Given the description of an element on the screen output the (x, y) to click on. 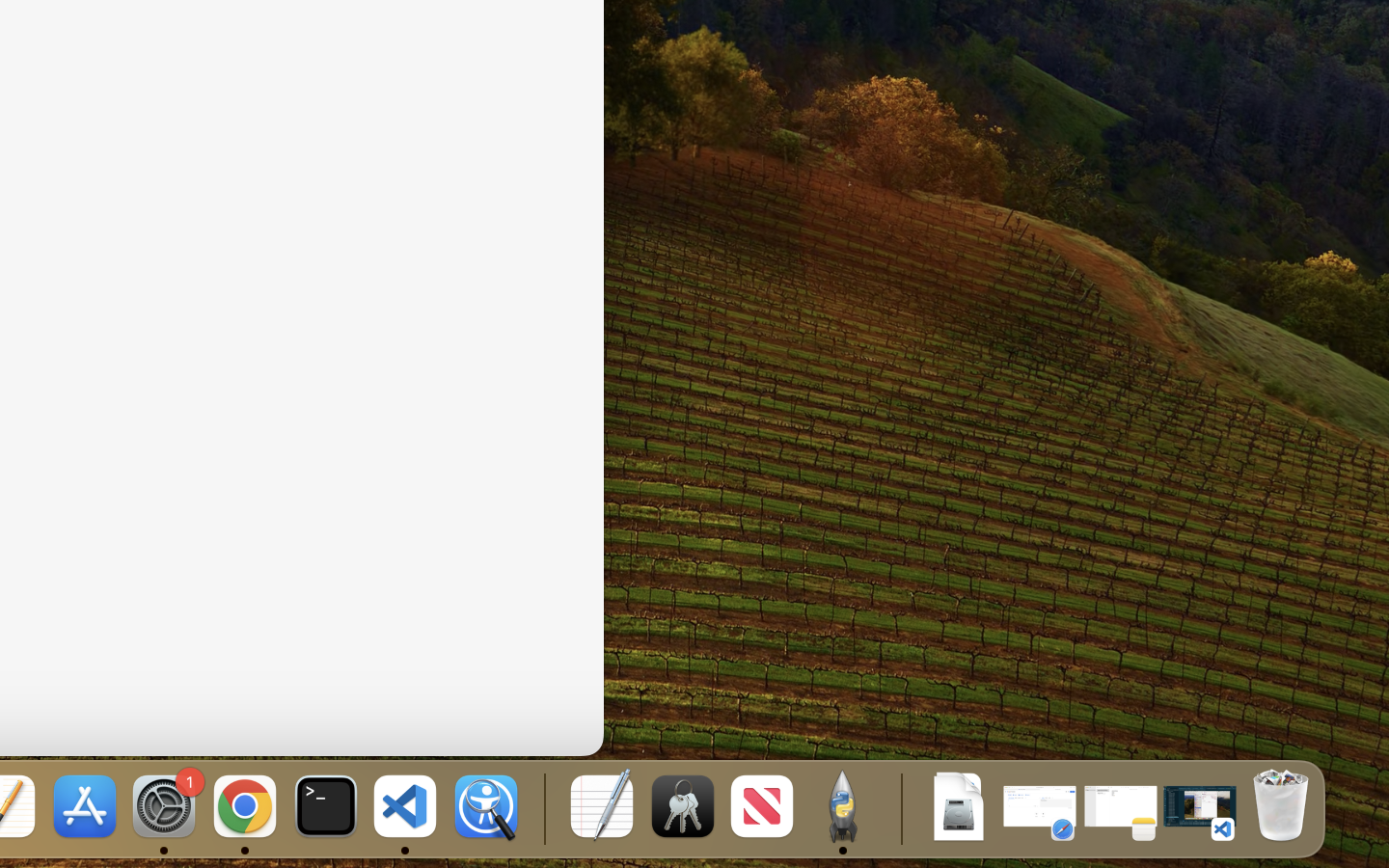
0.4285714328289032 Element type: AXDockItem (541, 807)
